Given the description of an element on the screen output the (x, y) to click on. 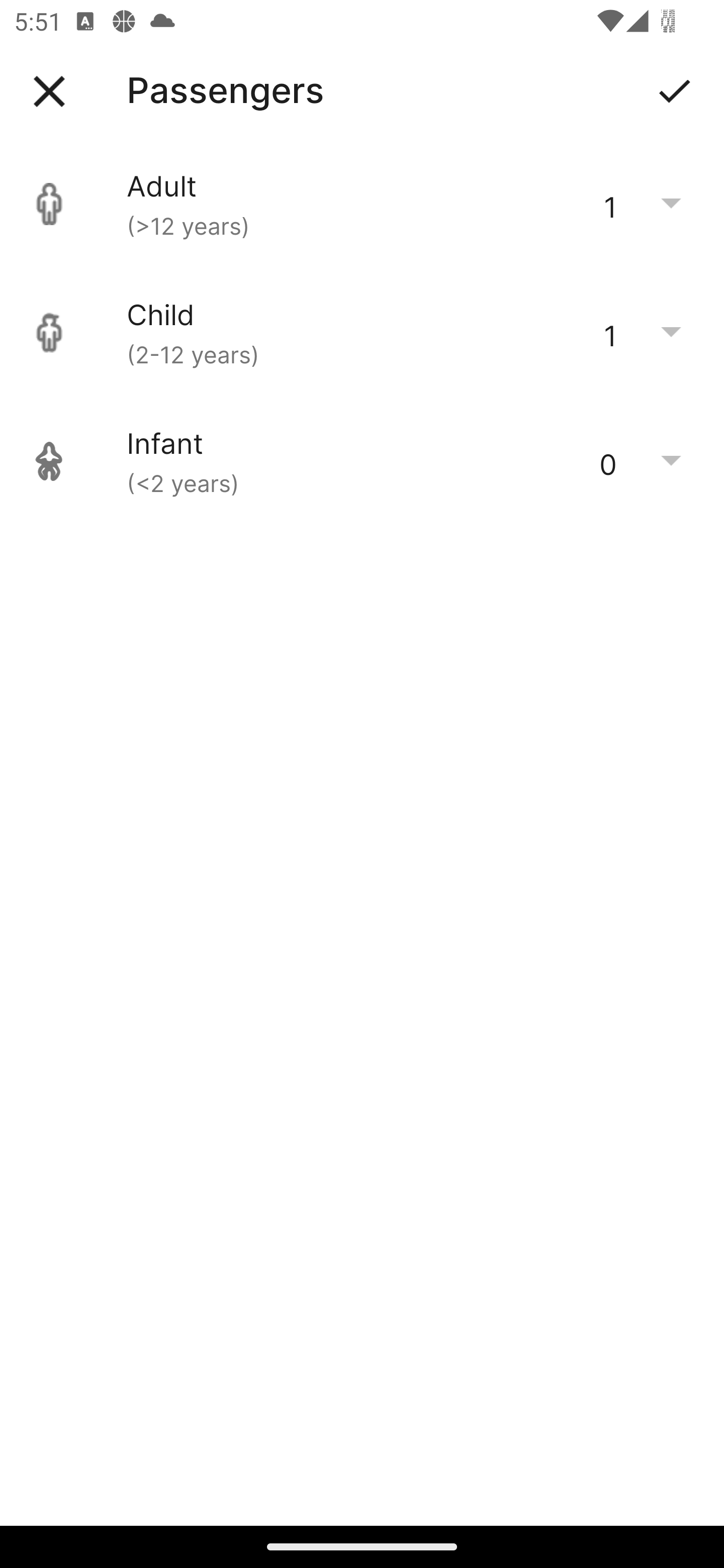
Adult (>12 years) 1 (362, 204)
Child (2-12 years) 1 (362, 332)
Infant (<2 years) 0 (362, 461)
